Given the description of an element on the screen output the (x, y) to click on. 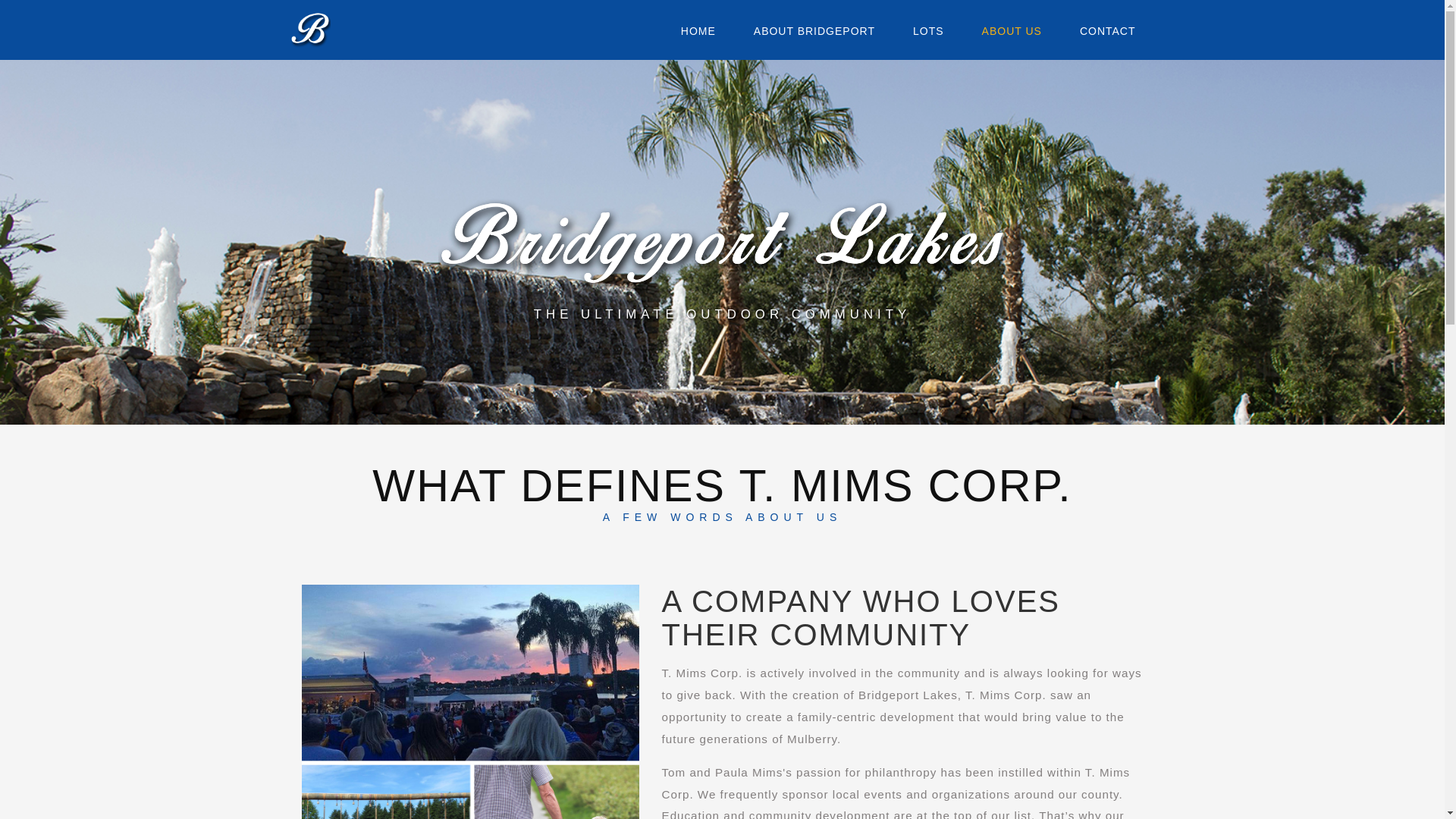
HOME (698, 30)
CONTACT (1107, 30)
ABOUT BRIDGEPORT (814, 30)
LOTS (927, 30)
ABOUT US (1011, 30)
